Given the description of an element on the screen output the (x, y) to click on. 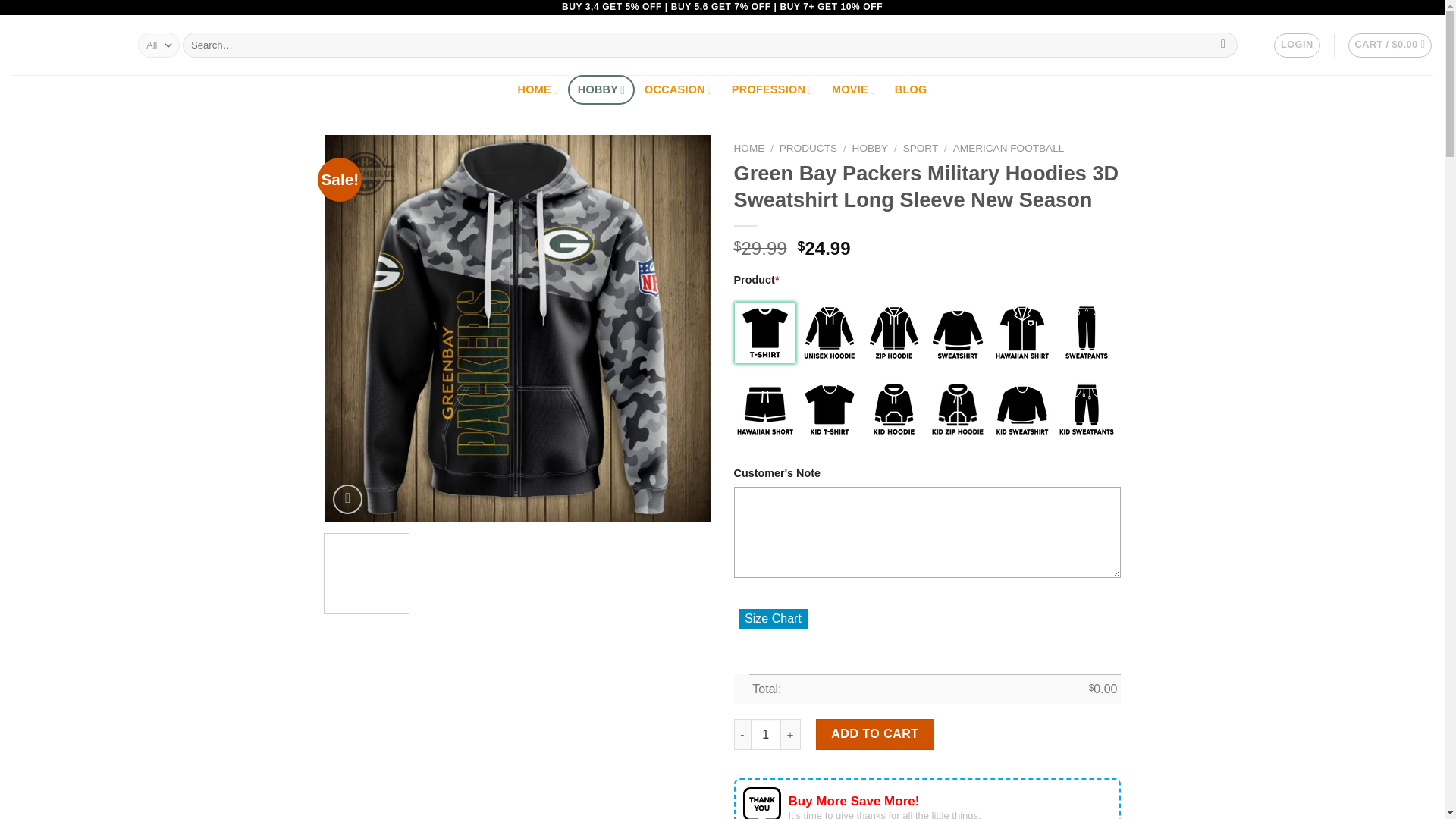
HOME (537, 89)
Zoom (347, 499)
HOBBY (600, 89)
Holatheblue - Just Your Style (63, 45)
LOGIN (1296, 45)
Cart (1390, 45)
OCCASION (678, 89)
Search (1223, 45)
1 (765, 734)
